Given the description of an element on the screen output the (x, y) to click on. 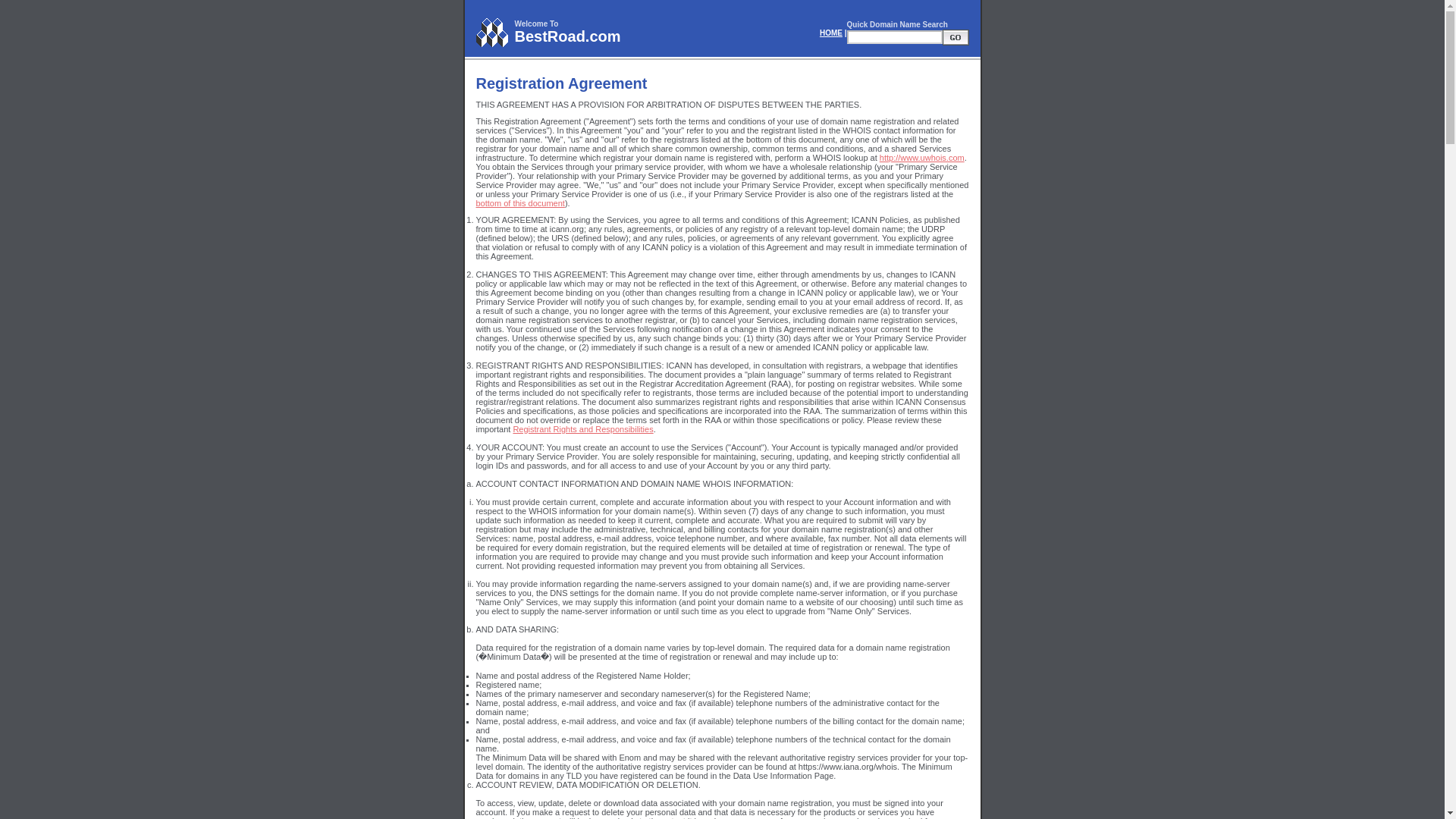
homepage (831, 32)
Edit (955, 36)
Registrant Rights and Responsibilities (582, 429)
HOME (831, 32)
bottom of this document (520, 203)
